Given the description of an element on the screen output the (x, y) to click on. 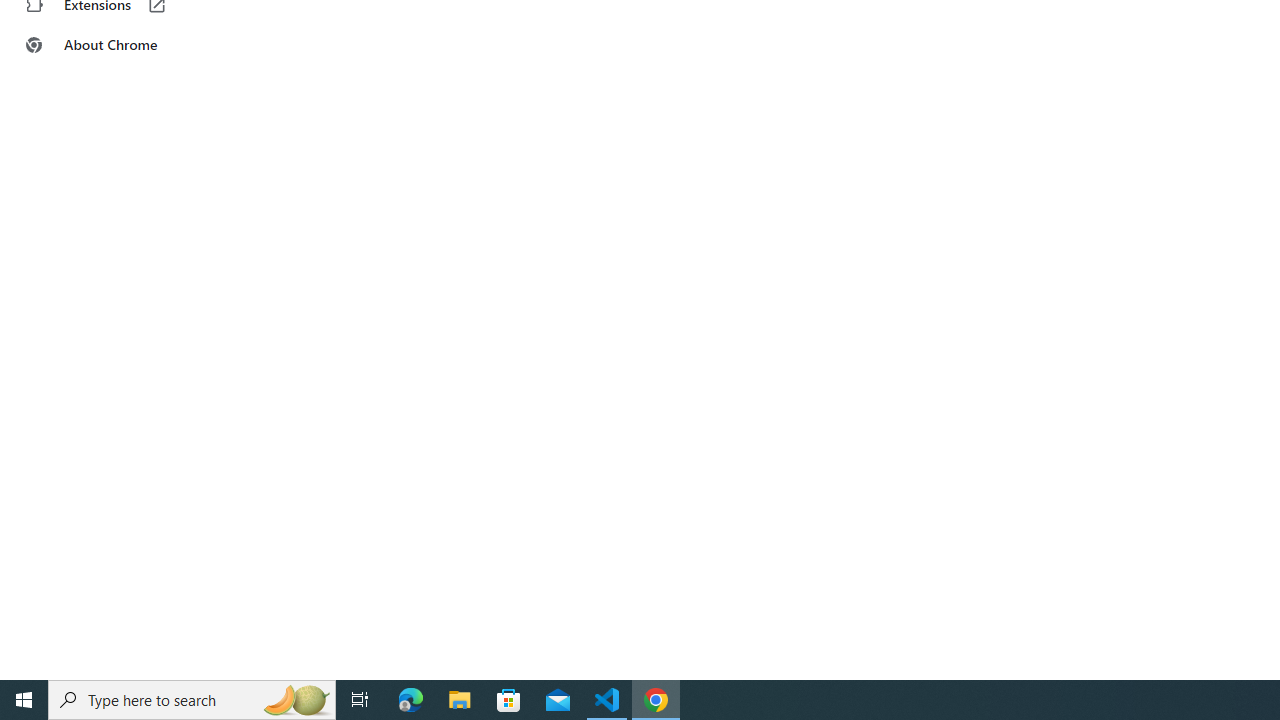
About Chrome (124, 44)
